Given the description of an element on the screen output the (x, y) to click on. 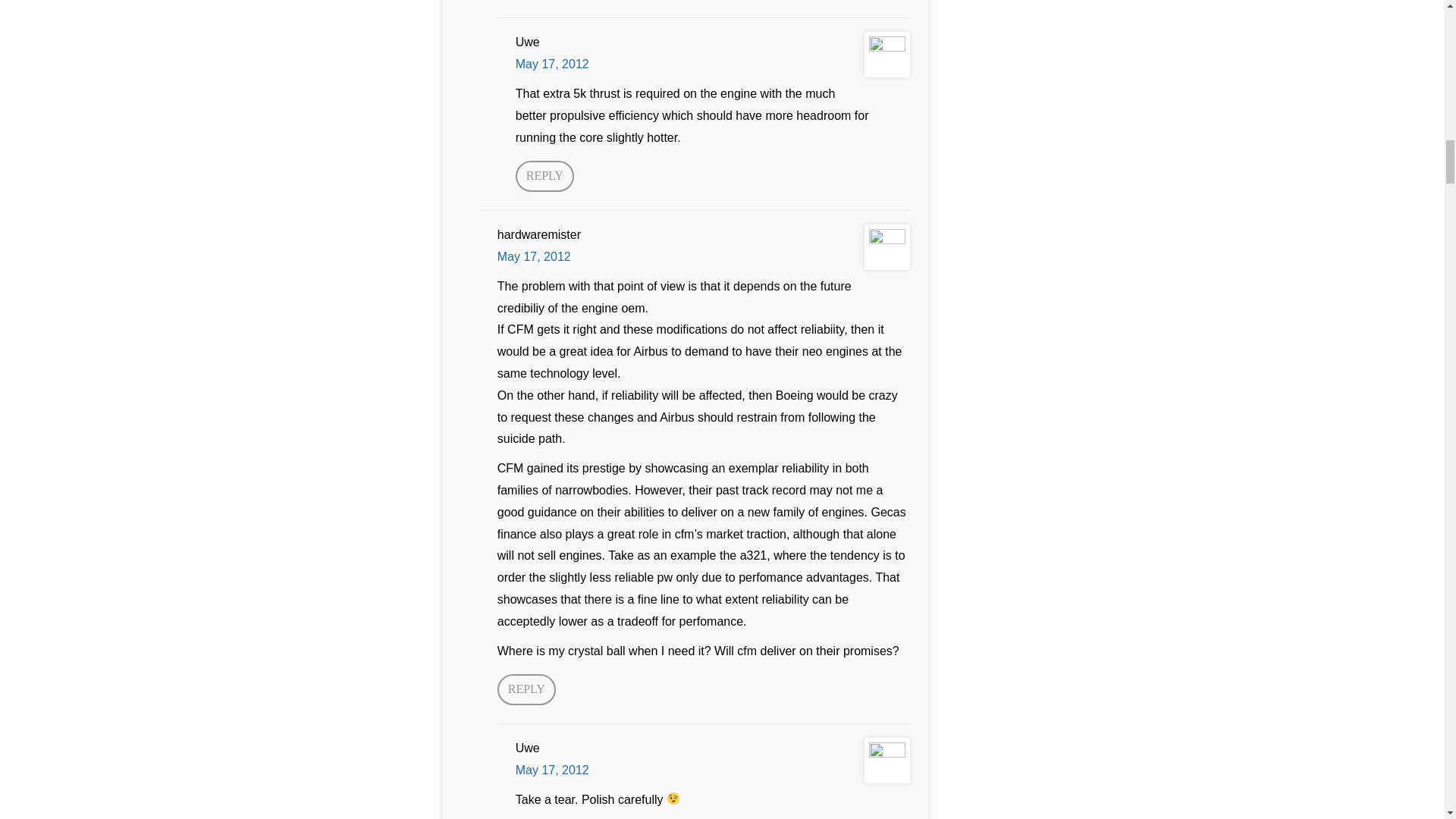
May 17, 2012 (533, 256)
REPLY (544, 175)
May 17, 2012 (552, 769)
REPLY (526, 689)
May 17, 2012 (552, 63)
